Given the description of an element on the screen output the (x, y) to click on. 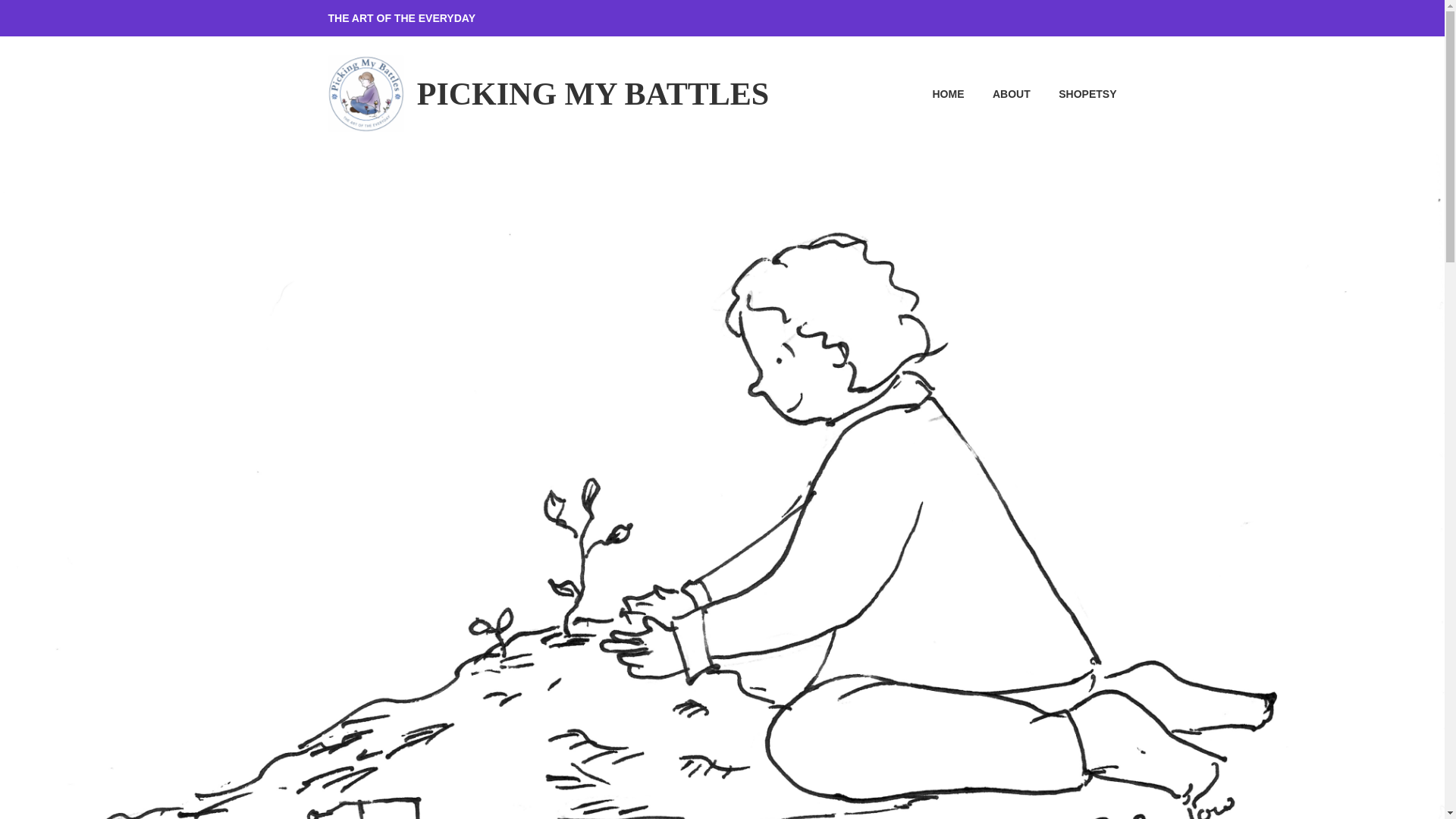
HOME (935, 93)
SHOPETSY (1074, 93)
ABOUT (997, 93)
PICKING MY BATTLES (592, 93)
